Given the description of an element on the screen output the (x, y) to click on. 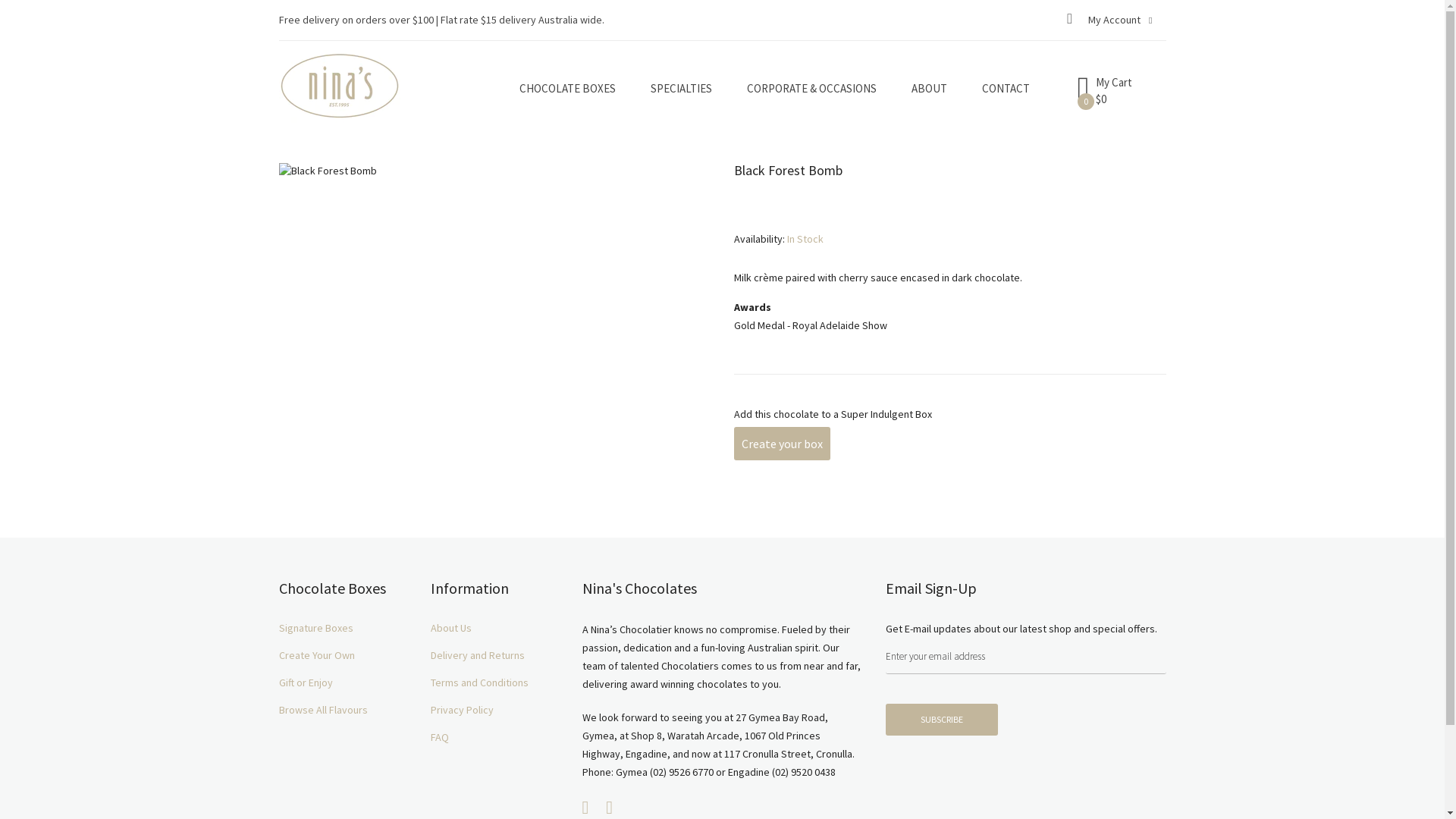
Gift or Enjoy Element type: text (343, 682)
SPECIALTIES Element type: text (681, 87)
Signature Boxes Element type: text (343, 628)
0
My Cart
$0 Element type: text (1118, 100)
My Account Element type: text (1119, 20)
About Us Element type: text (494, 628)
CORPORATE & OCCASIONS Element type: text (810, 87)
Browse All Flavours Element type: text (343, 710)
Delivery and Returns Element type: text (494, 655)
Subscribe Element type: text (941, 719)
CHOCOLATE BOXES Element type: text (566, 87)
CONTACT Element type: text (1005, 87)
Terms and Conditions Element type: text (494, 682)
ABOUT Element type: text (929, 87)
Create your box Element type: text (782, 443)
Create Your Own Element type: text (343, 655)
FAQ Element type: text (494, 737)
Privacy Policy Element type: text (494, 710)
